Given the description of an element on the screen output the (x, y) to click on. 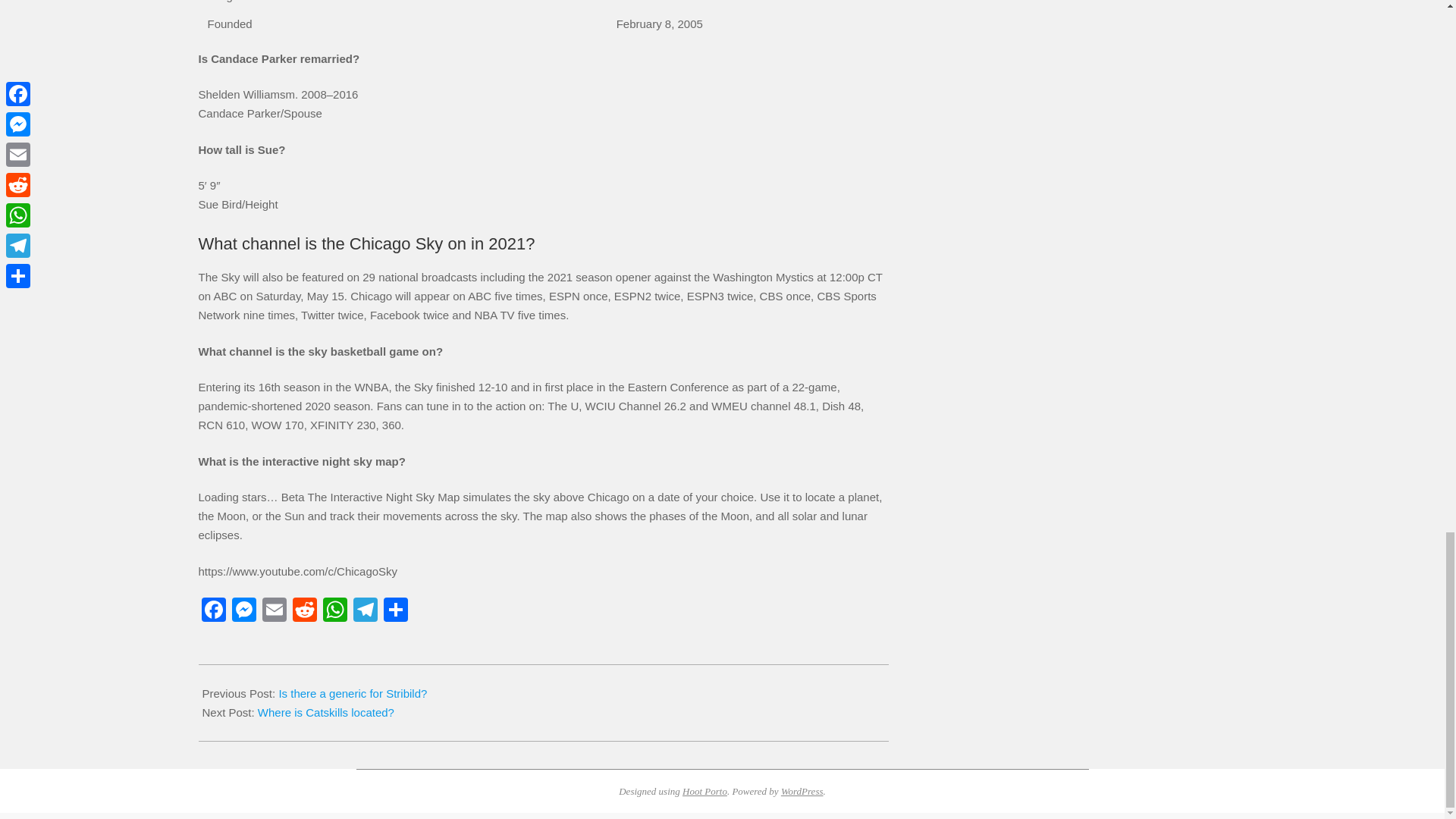
WhatsApp (335, 611)
Telegram (365, 611)
Is there a generic for Stribild? (352, 693)
Email (274, 611)
Reddit (304, 611)
Telegram (365, 611)
Email (274, 611)
Messenger (243, 611)
Facebook (213, 611)
WhatsApp (335, 611)
